Given the description of an element on the screen output the (x, y) to click on. 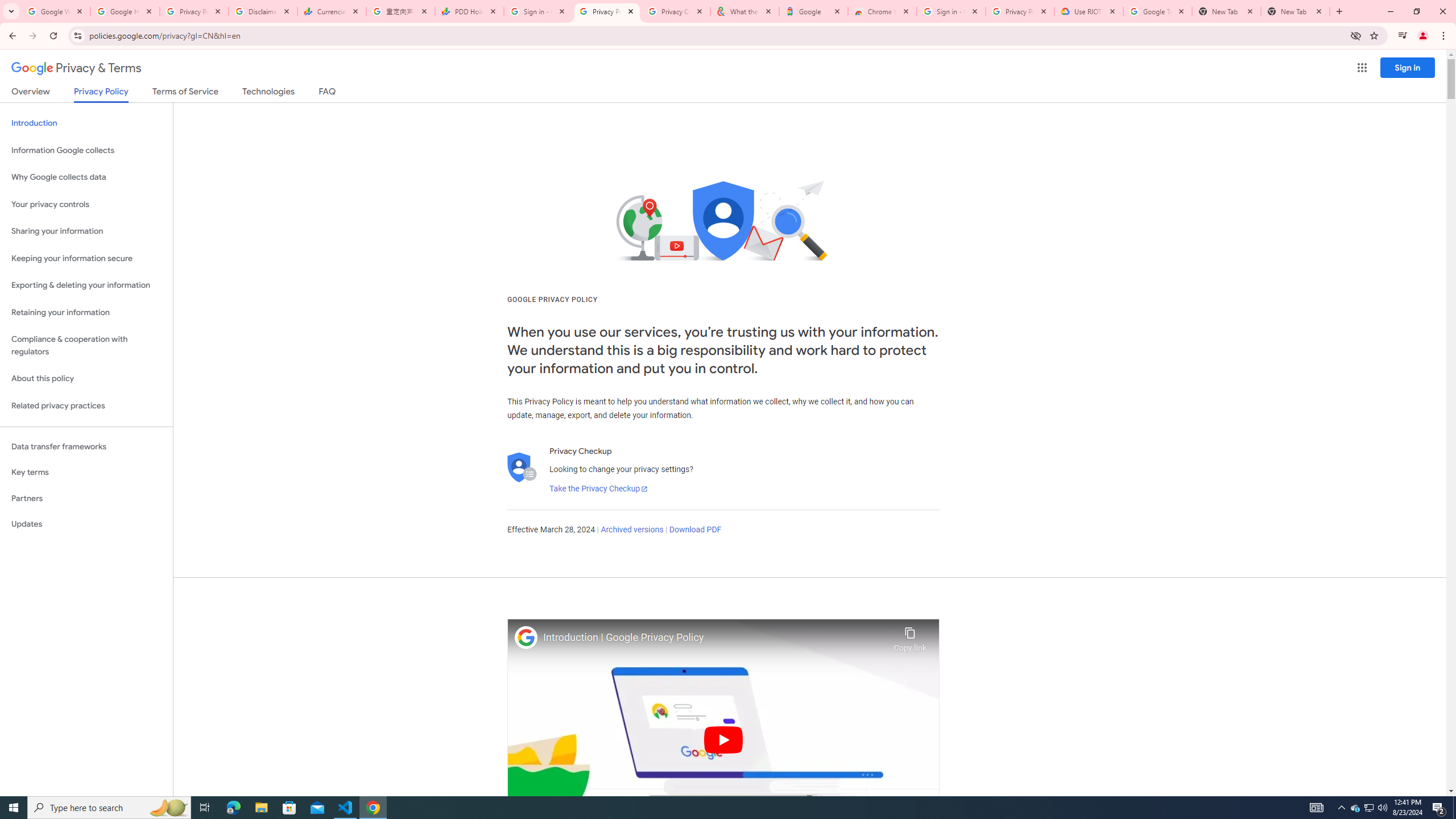
Copy link (909, 636)
Privacy Checkup (675, 11)
Sign in - Google Accounts (538, 11)
New Tab (1295, 11)
PDD Holdings Inc - ADR (PDD) Price & News - Google Finance (469, 11)
